Given the description of an element on the screen output the (x, y) to click on. 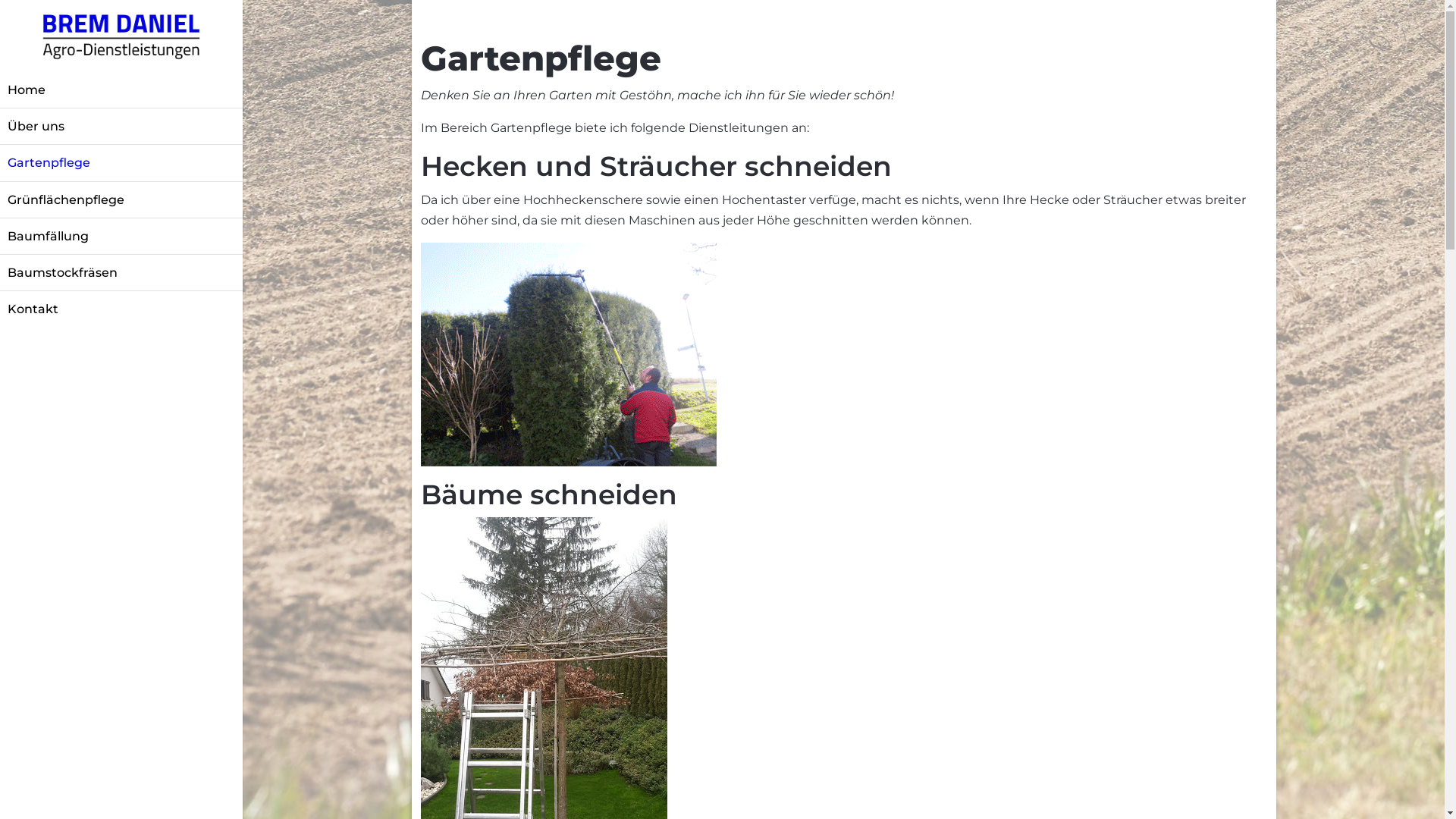
Home Element type: text (102, 89)
Kontakt Element type: text (102, 308)
Gartenpflege Element type: text (102, 162)
